Given the description of an element on the screen output the (x, y) to click on. 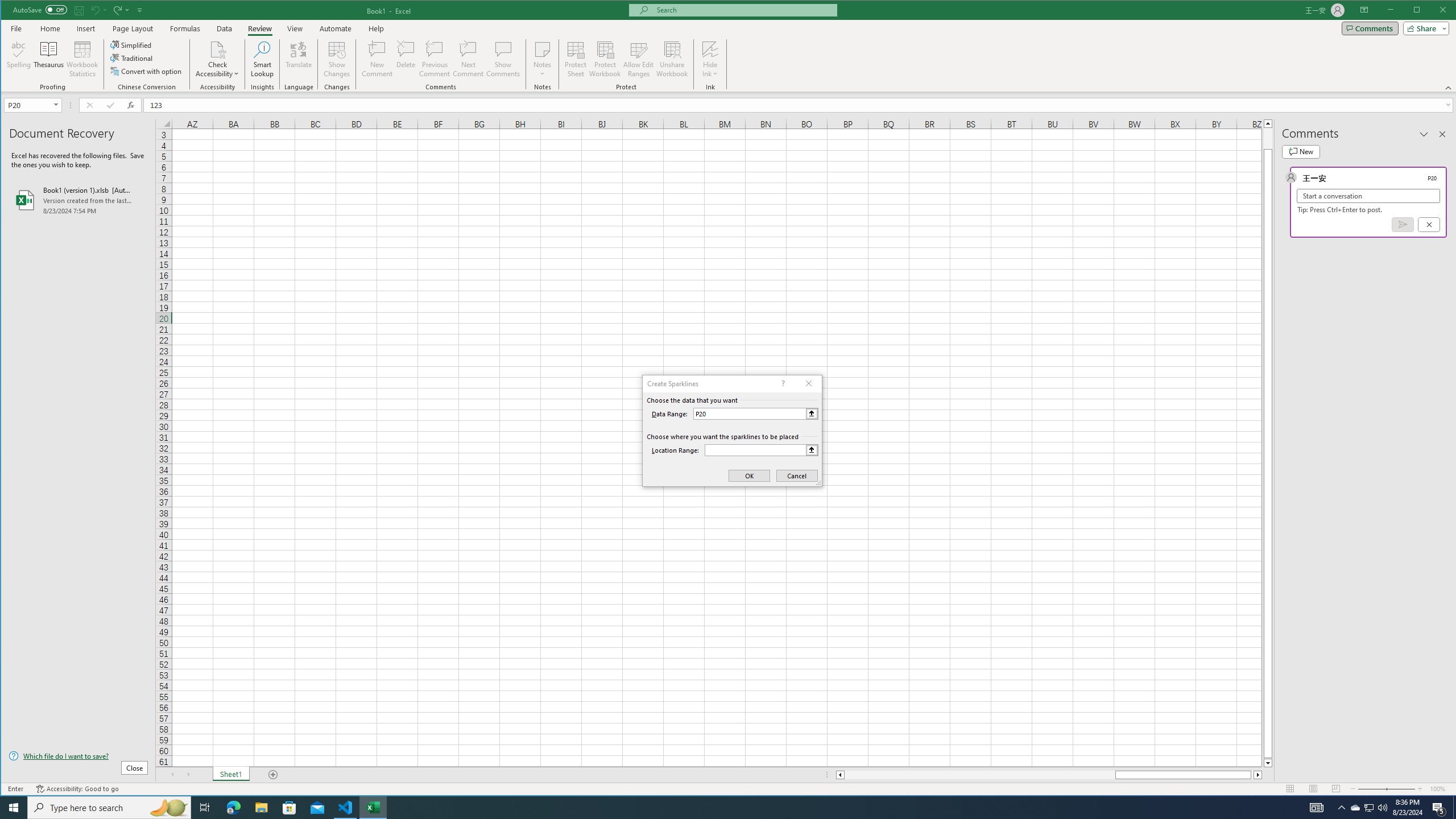
Post comment (Ctrl + Enter) (1402, 224)
Page left (979, 774)
Show Changes (335, 59)
New comment (1300, 151)
Show Comments (502, 59)
